Given the description of an element on the screen output the (x, y) to click on. 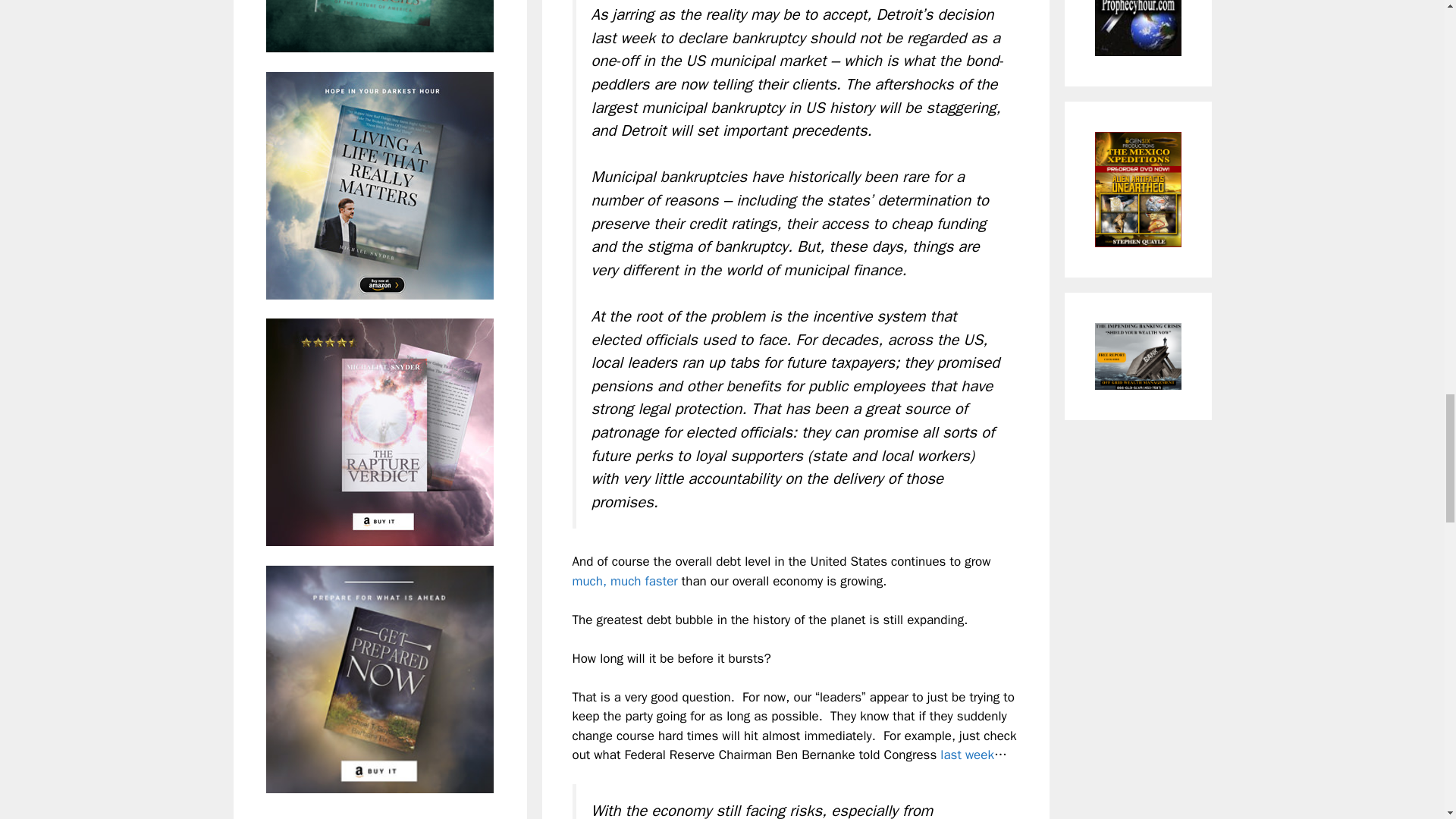
last week (967, 754)
much, much faster (624, 580)
last week (967, 754)
much, much faster (624, 580)
